Given the description of an element on the screen output the (x, y) to click on. 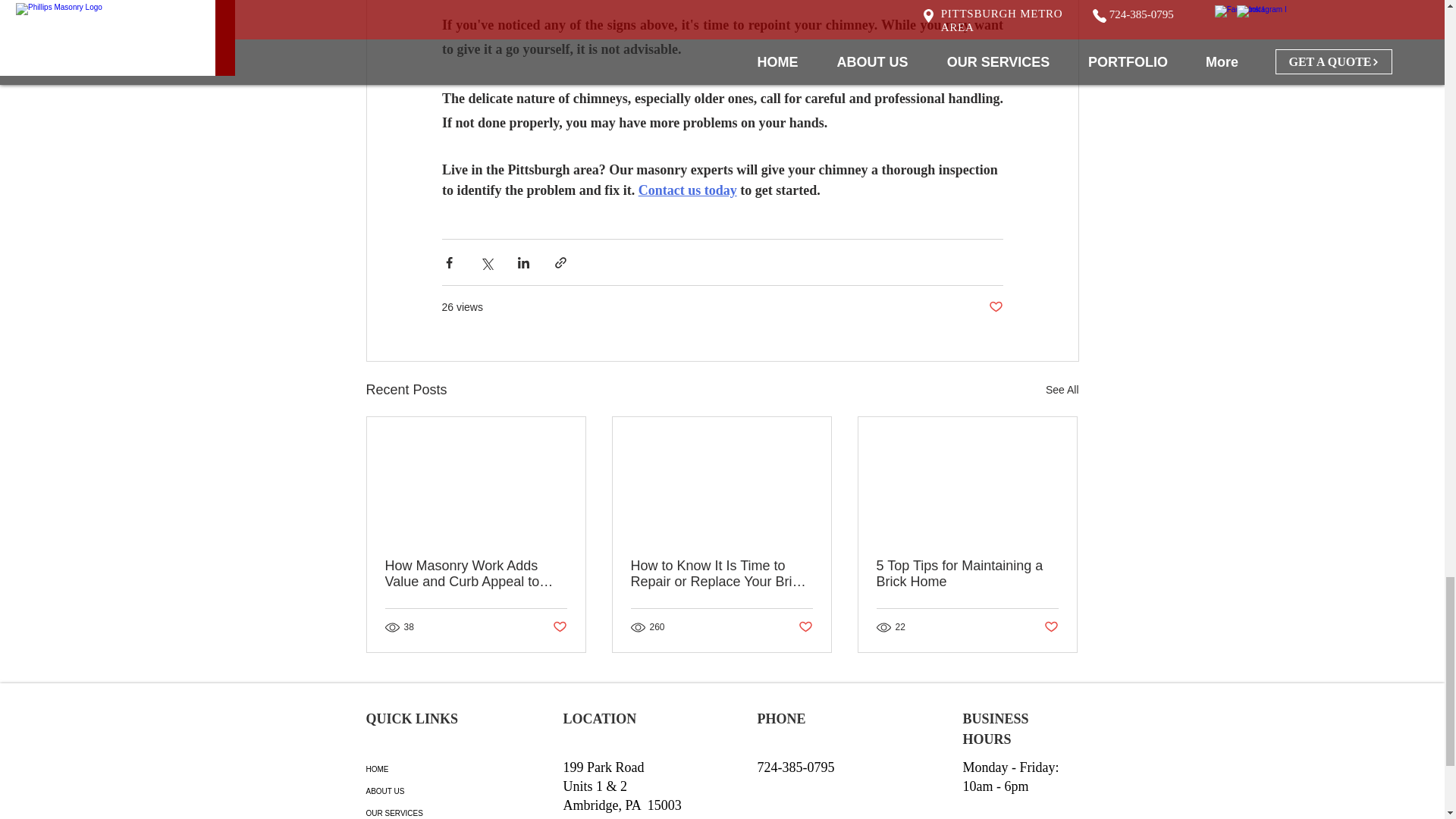
Contact us today (686, 190)
See All (1061, 390)
How to Know It Is Time to Repair or Replace Your Brick Steps (721, 573)
OUR SERVICES (418, 810)
ABOUT US (418, 791)
Post not marked as liked (1050, 627)
HOME (418, 769)
How Masonry Work Adds Value and Curb Appeal to Your Property (476, 573)
Post not marked as liked (995, 307)
5 Top Tips for Maintaining a Brick Home (967, 573)
Post not marked as liked (558, 627)
Post not marked as liked (804, 627)
